Given the description of an element on the screen output the (x, y) to click on. 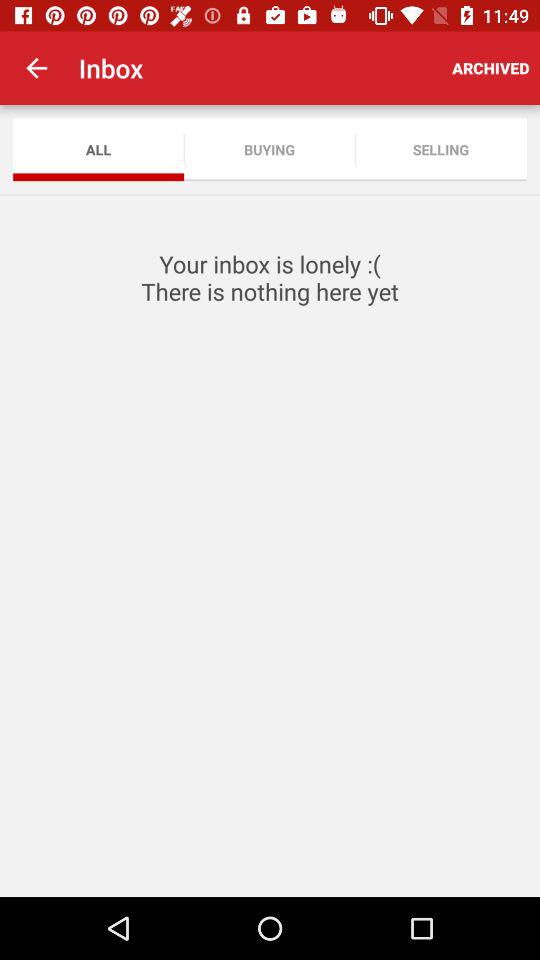
choose the archived item (490, 67)
